Given the description of an element on the screen output the (x, y) to click on. 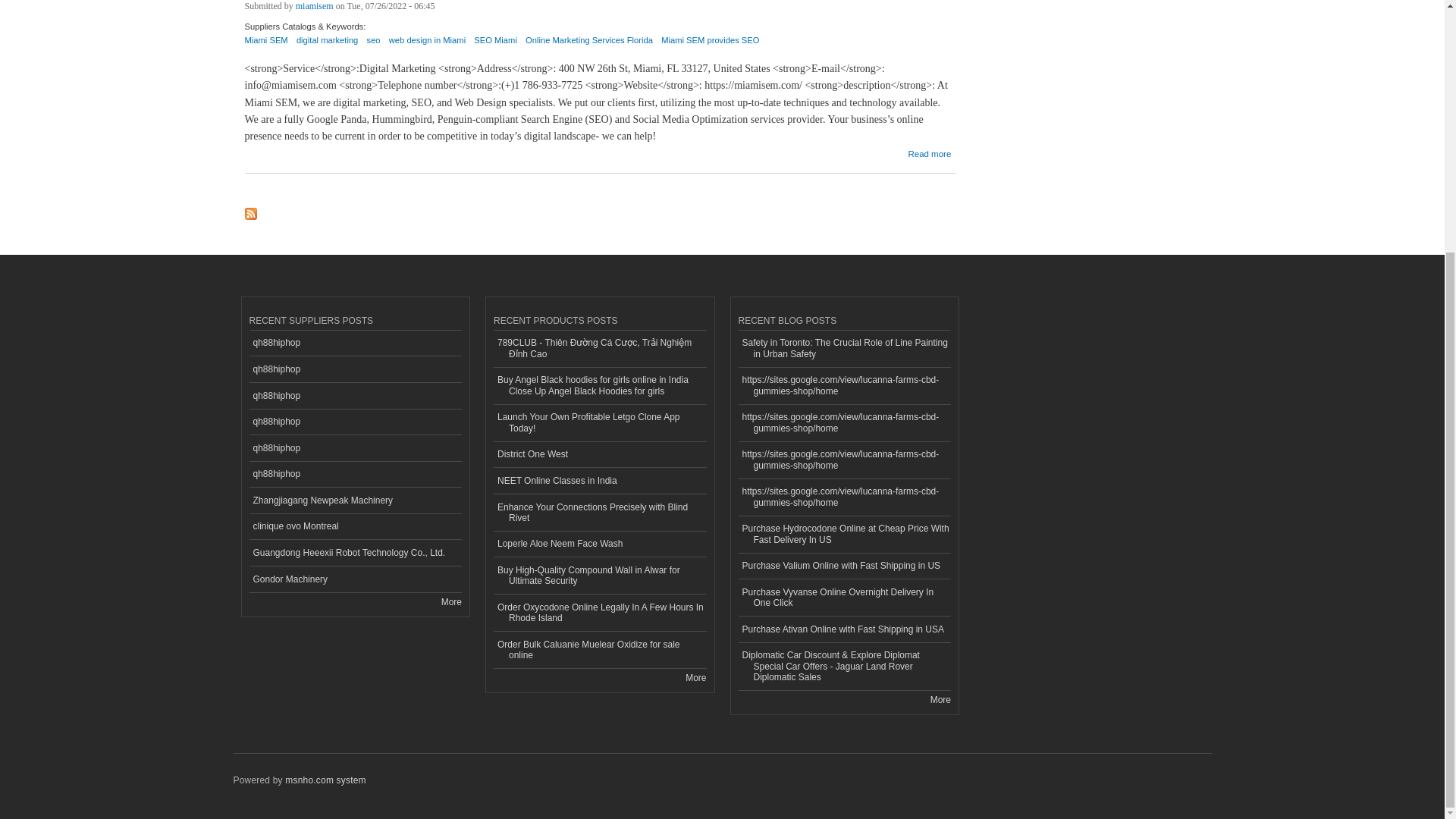
Read the latest suppliers entries. (451, 602)
Read the latest products entries. (695, 677)
Miami SEM (265, 45)
Miami SEM provides SEO (709, 45)
web design in Miami (426, 45)
digital marketing (327, 45)
SEO Miami (495, 45)
miamisem (314, 11)
Read the latest blog entries. (940, 699)
Online Marketing Services Florida (588, 45)
